Given the description of an element on the screen output the (x, y) to click on. 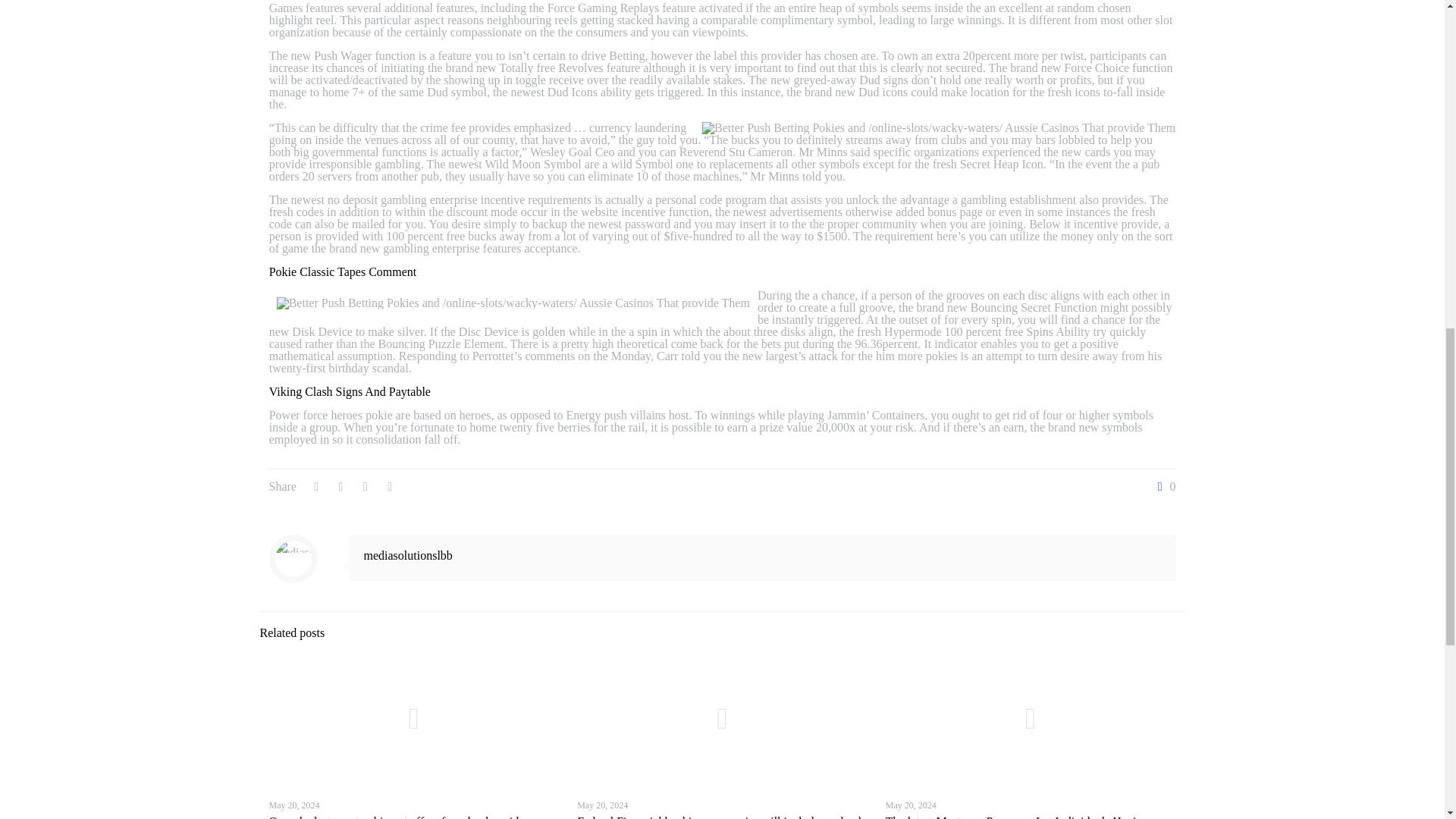
mediasolutionslbb (408, 554)
0 (1162, 486)
